Given the description of an element on the screen output the (x, y) to click on. 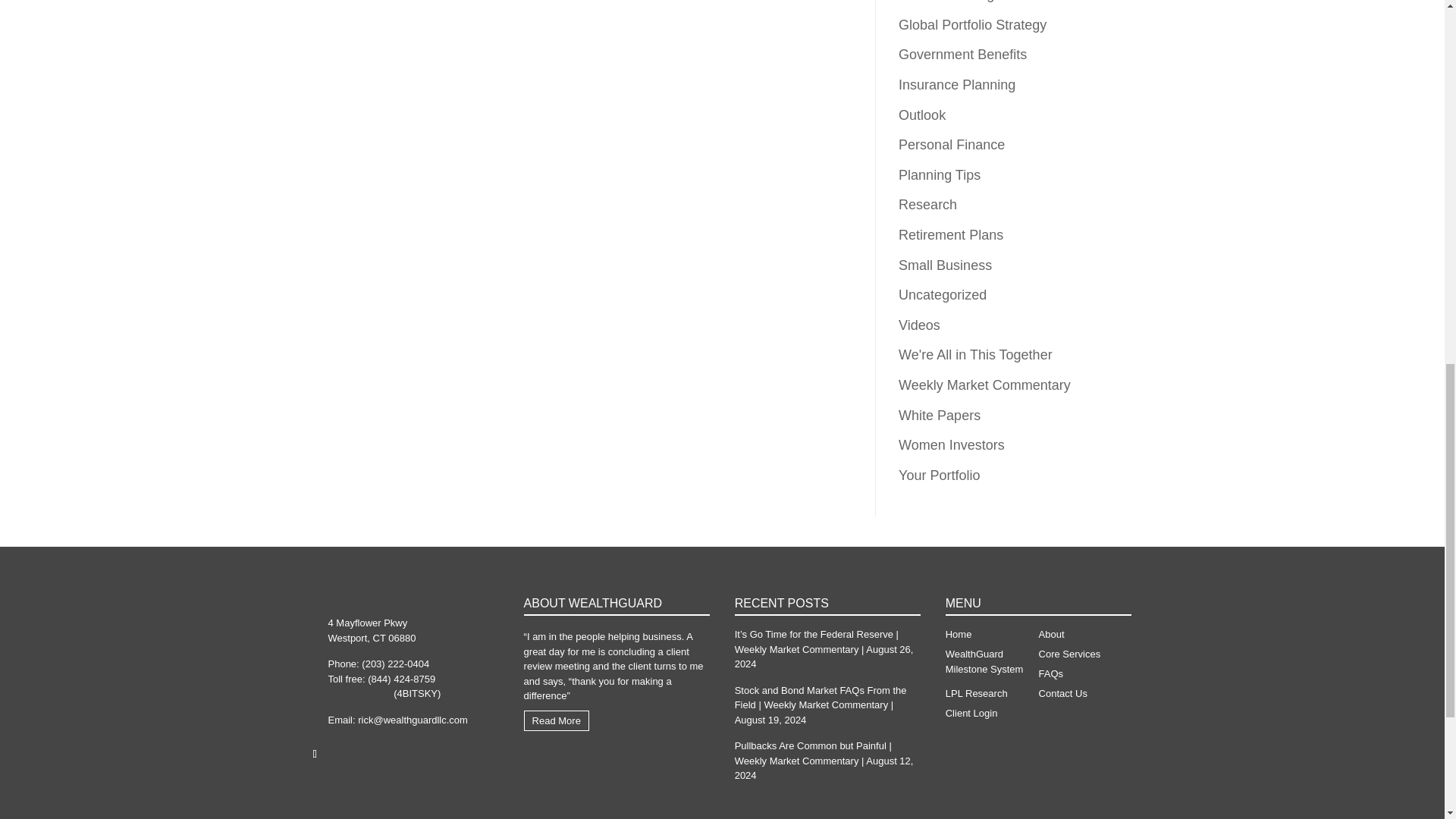
Small Business (944, 264)
Insurance Planning (956, 84)
Government Benefits (962, 54)
Uncategorized (942, 294)
Weekly Market Commentary (984, 385)
Retirement Plans (950, 234)
We're All in This Together (975, 354)
White Papers (938, 415)
Estate Planning (946, 1)
Global Portfolio Strategy (972, 24)
